Given the description of an element on the screen output the (x, y) to click on. 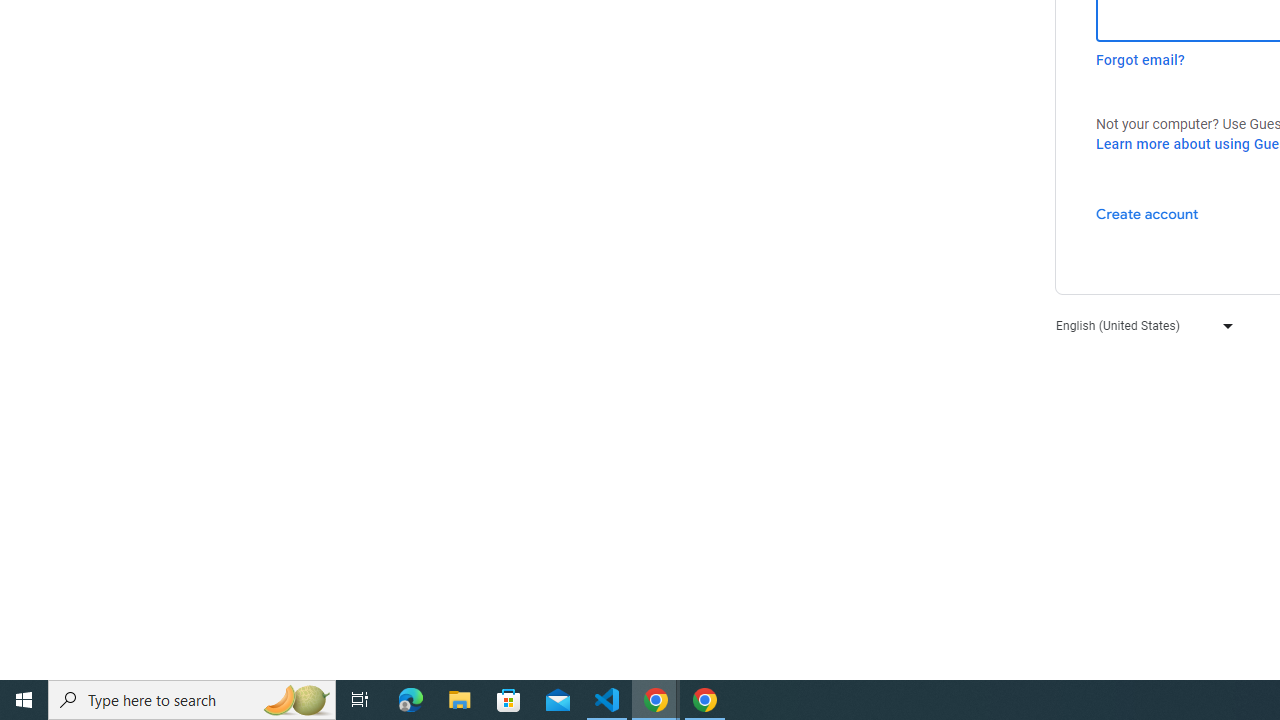
Forgot email? (1140, 59)
English (United States) (1139, 324)
Create account (1146, 213)
